Given the description of an element on the screen output the (x, y) to click on. 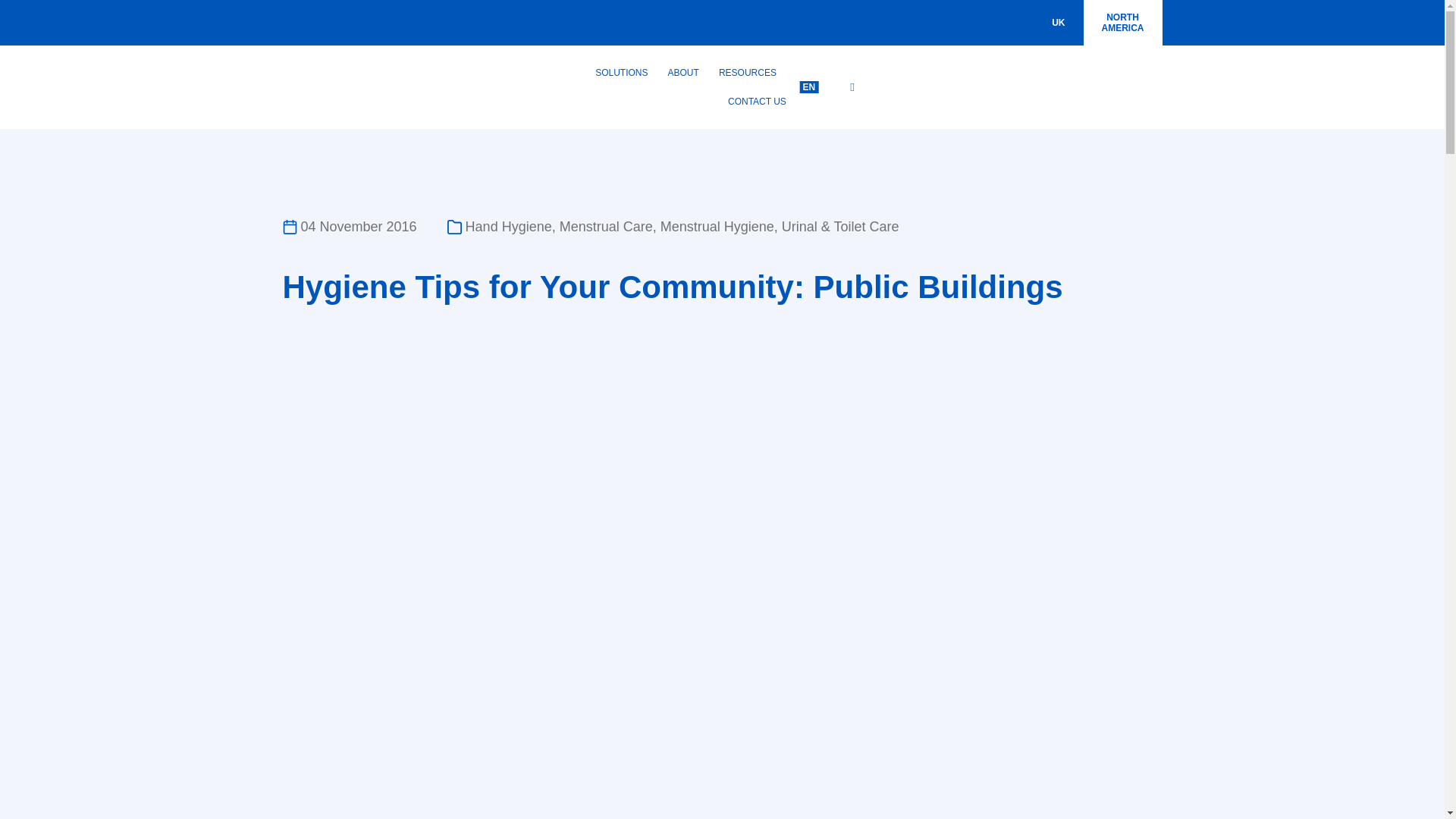
UK (1058, 22)
ABOUT (683, 72)
CONTACT US (751, 101)
SOLUTIONS (1122, 22)
RESOURCES (621, 72)
